Given the description of an element on the screen output the (x, y) to click on. 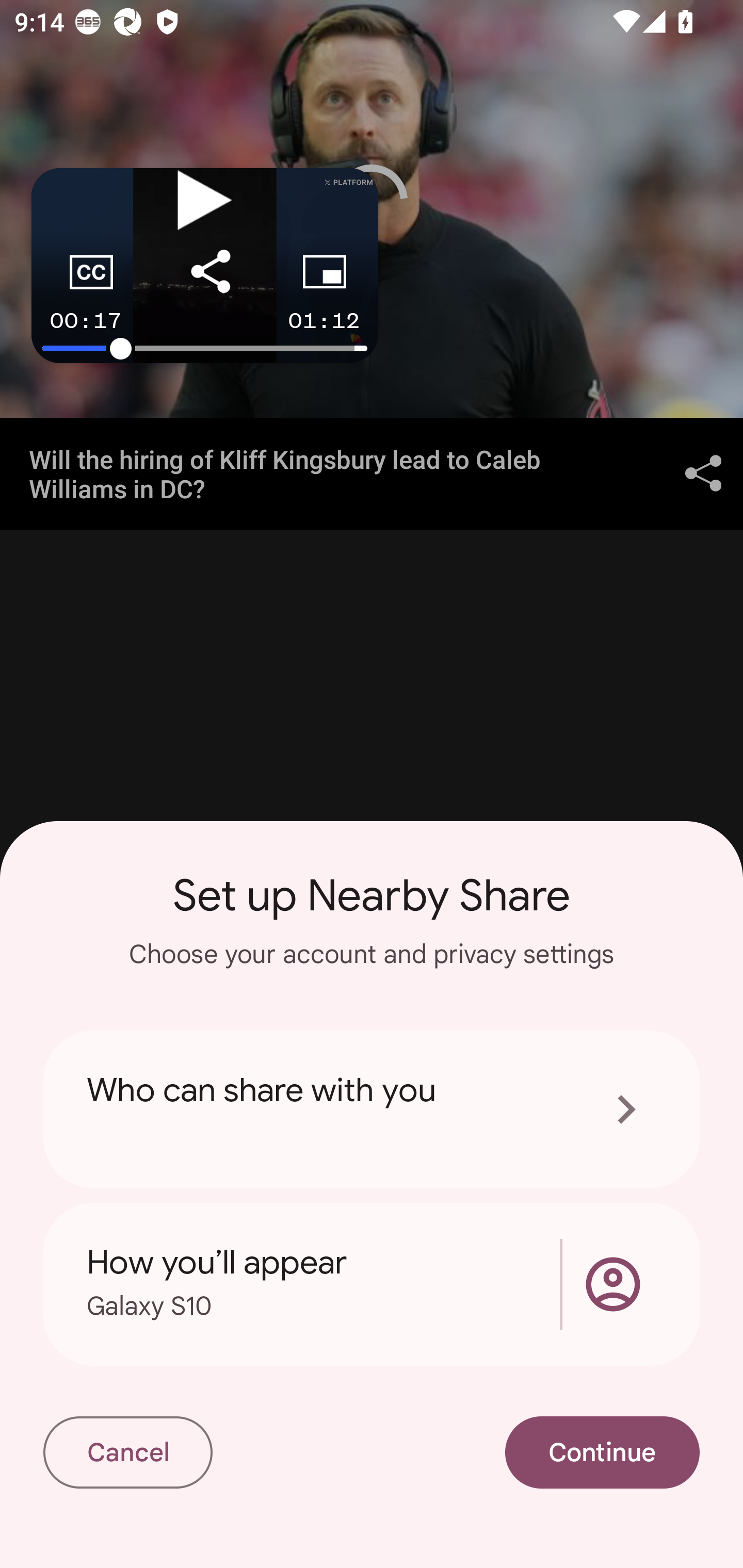
Who can share with you (371, 1109)
How you’ll appear Galaxy S10 (327, 1283)
No account found (612, 1284)
Cancel (127, 1452)
Continue (602, 1452)
